Given the description of an element on the screen output the (x, y) to click on. 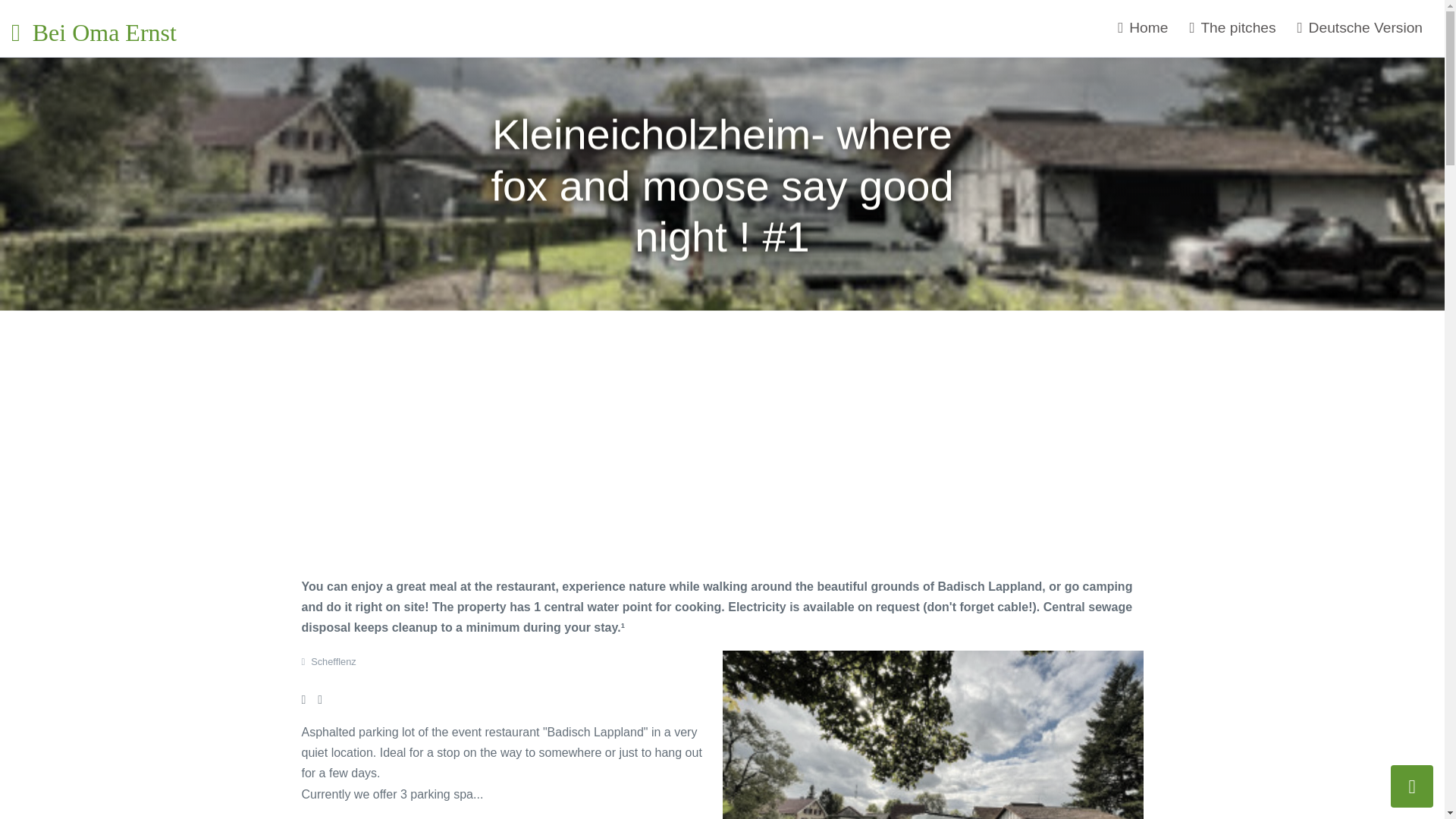
Home (1141, 27)
Bei Oma Ernst (68, 28)
The pitches (1231, 27)
Deutsche Version (1359, 27)
